Given the description of an element on the screen output the (x, y) to click on. 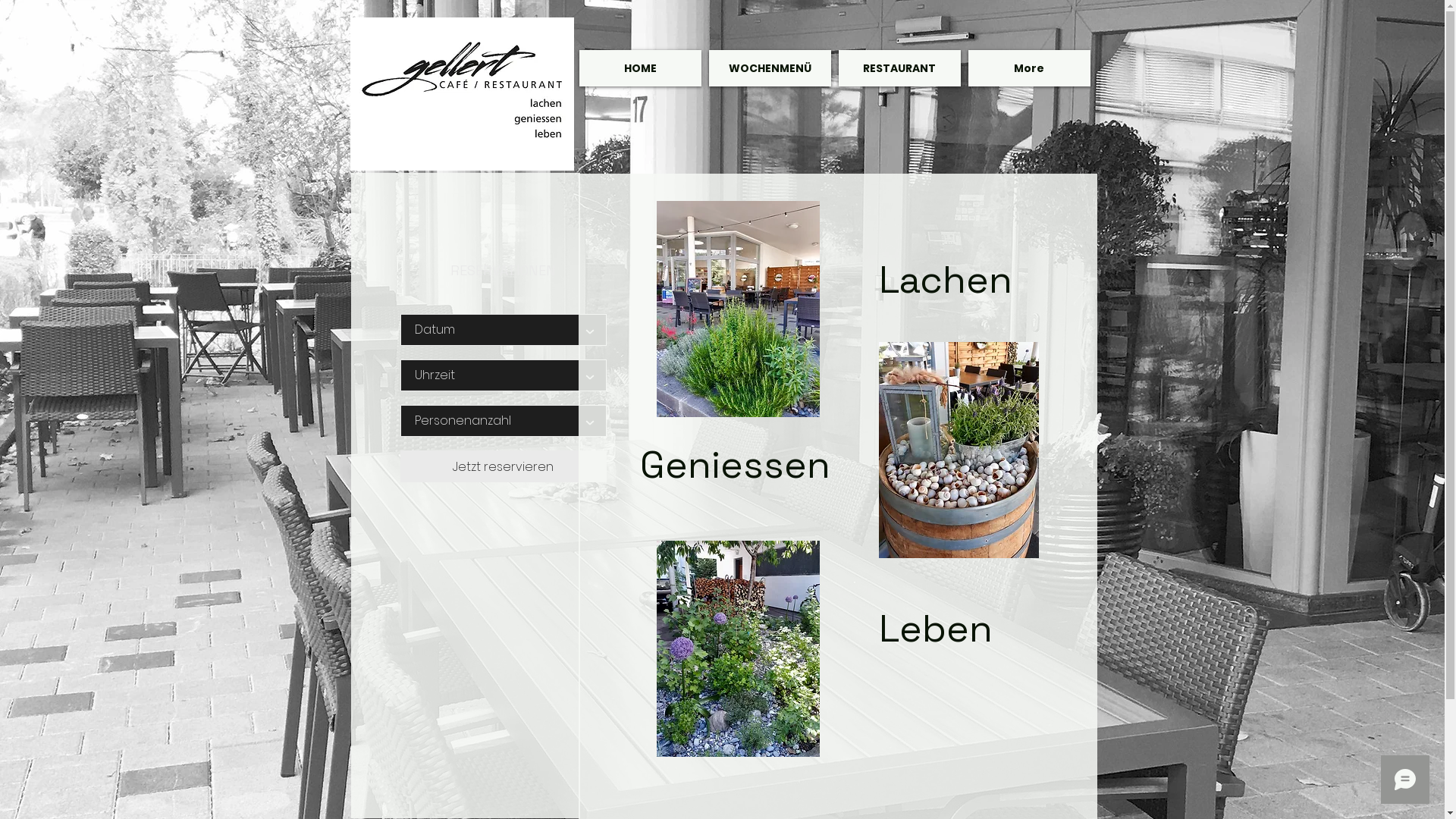
0e95ebc8-615a-4232-813c-5273abf9efcc.JPG Element type: hover (958, 450)
RESTAURANT Element type: text (899, 68)
HOME Element type: text (640, 68)
Wix Reservations Element type: hover (501, 365)
d1ce17b2-35d2-4f14-81d9-39827eebe906.JPG Element type: hover (737, 308)
511e0053-8b4d-4e5a-90d4-f1ce8ead62a9.JPG Element type: hover (737, 648)
